Given the description of an element on the screen output the (x, y) to click on. 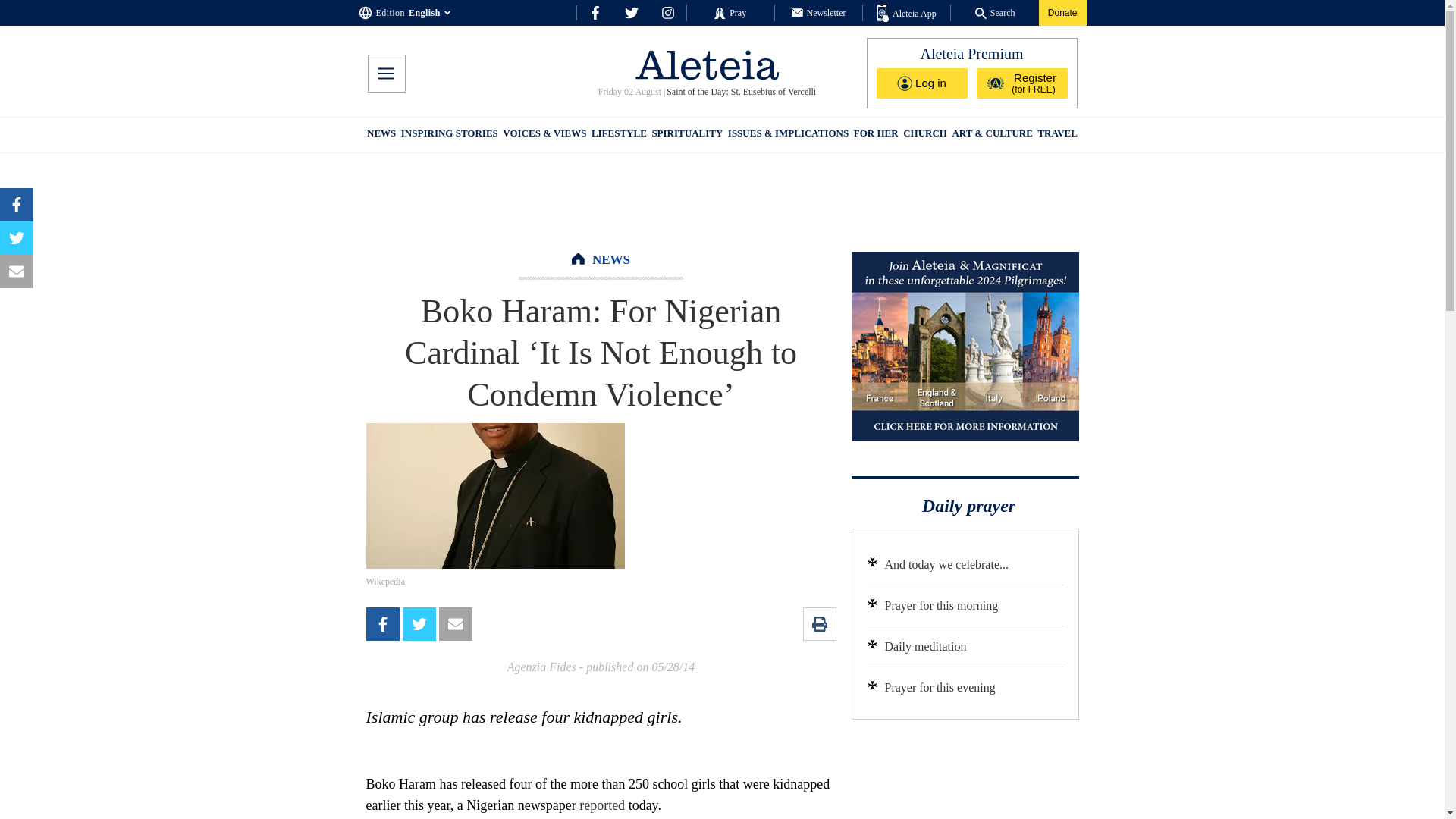
Newsletter (818, 12)
Log in (922, 82)
social-fb-top-row (595, 12)
Aleteia App (906, 13)
NEWS (611, 259)
Donate (1062, 12)
INSPIRING STORIES (449, 134)
logo-header (706, 64)
CHURCH (924, 134)
LIFESTYLE (618, 134)
Agenzia Fides (541, 666)
social-ig-top-row (668, 12)
mobile-menu-btn (385, 73)
reported (603, 805)
FOR HER (875, 134)
